Given the description of an element on the screen output the (x, y) to click on. 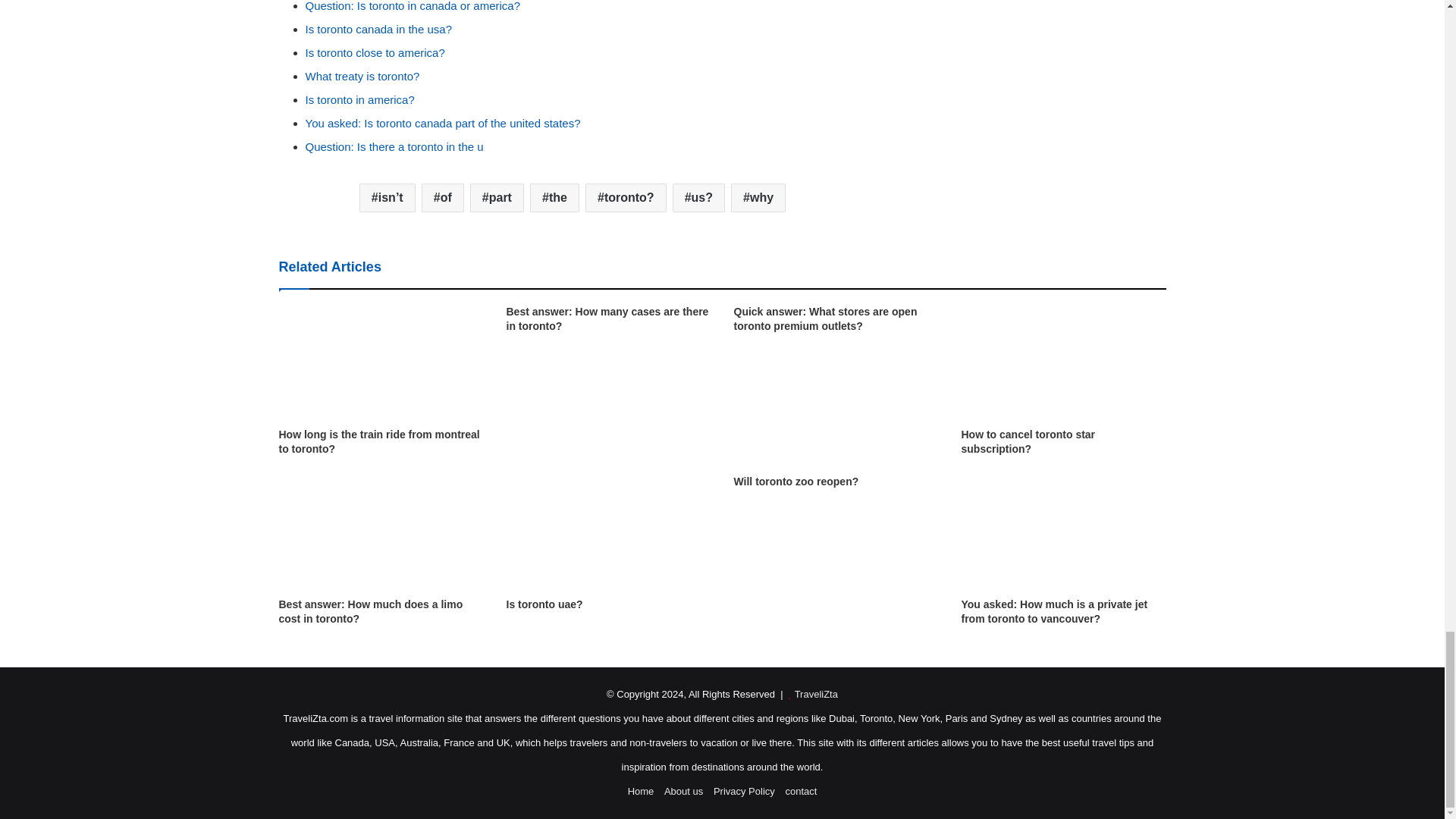
Is toronto close to america? (374, 51)
toronto? (625, 197)
of (443, 197)
How long is the train ride from montreal to toronto? (379, 441)
Is toronto in america? (358, 99)
Quick answer: What stores are open toronto premium outlets? (825, 318)
Question: Is there a toronto in the u (393, 146)
How to cancel toronto star subscription? (1028, 441)
Best answer: How many cases are there in toronto? (607, 318)
Question: Is toronto in canada or america? (411, 6)
Is toronto uae? (544, 604)
Is toronto canada in the usa? (377, 29)
us? (698, 197)
What treaty is toronto? (361, 75)
You asked: Is toronto canada part of the united states? (441, 123)
